Given the description of an element on the screen output the (x, y) to click on. 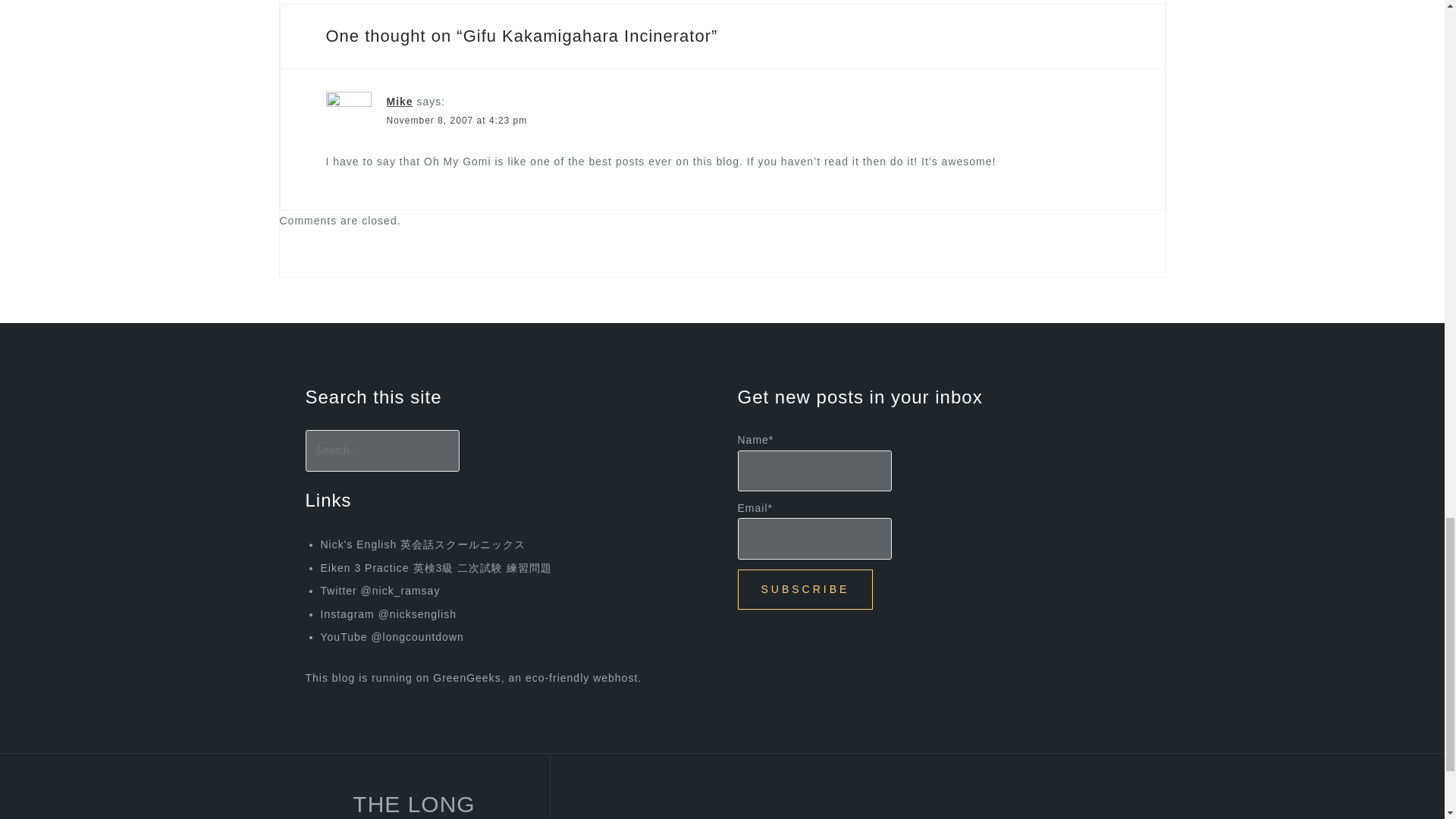
Subscribe (804, 589)
Follow me and my school on Instagram (388, 613)
November 8, 2007 at 4:23 pm (457, 120)
THE LONG COUNTDOWN (414, 805)
GreenGeeks (466, 677)
My old YouTube channel (391, 636)
Follow me on Twitter (379, 590)
Mike (400, 101)
Subscribe (804, 589)
